Given the description of an element on the screen output the (x, y) to click on. 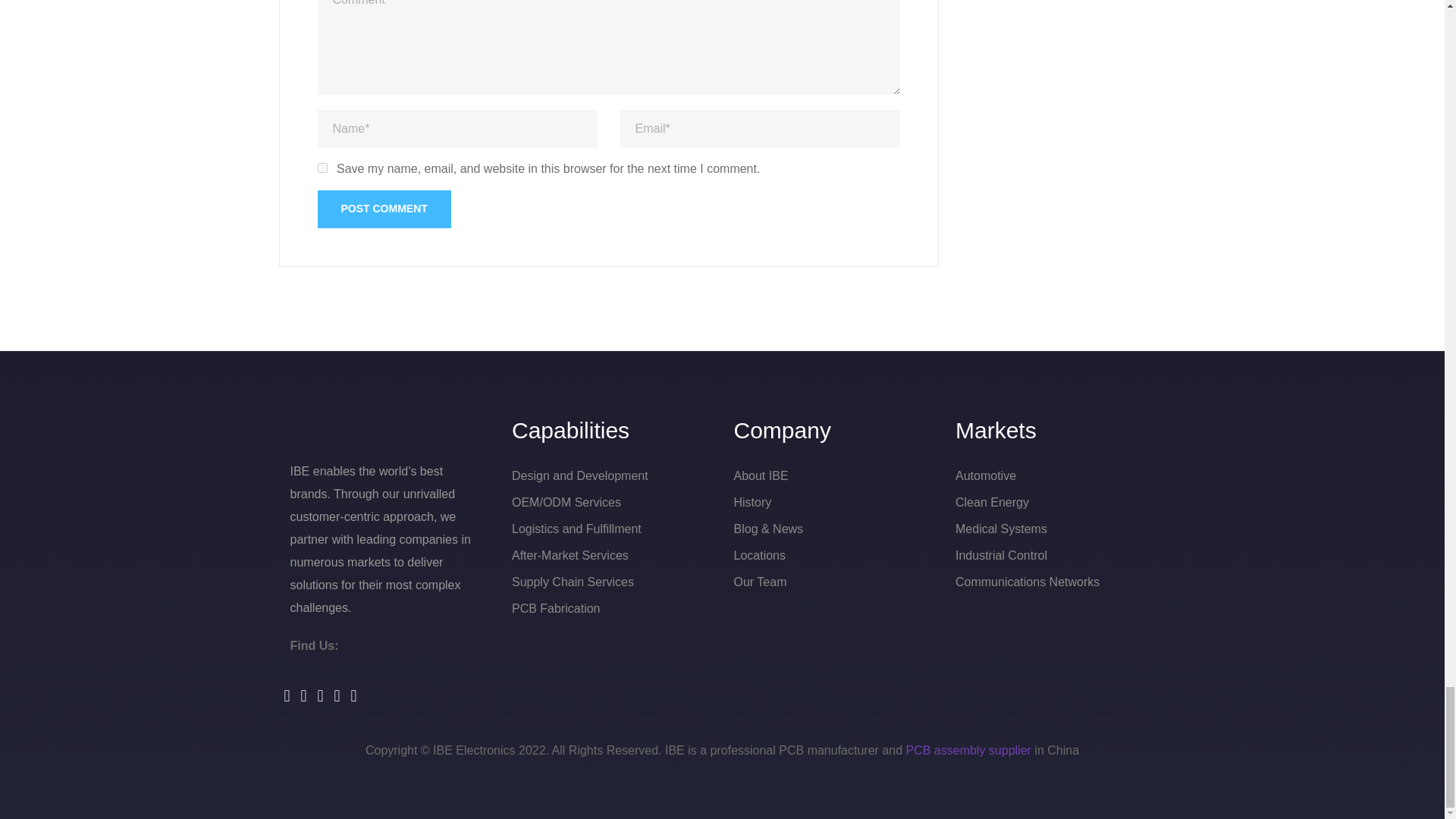
Post Comment (383, 209)
yes (321, 167)
